Given the description of an element on the screen output the (x, y) to click on. 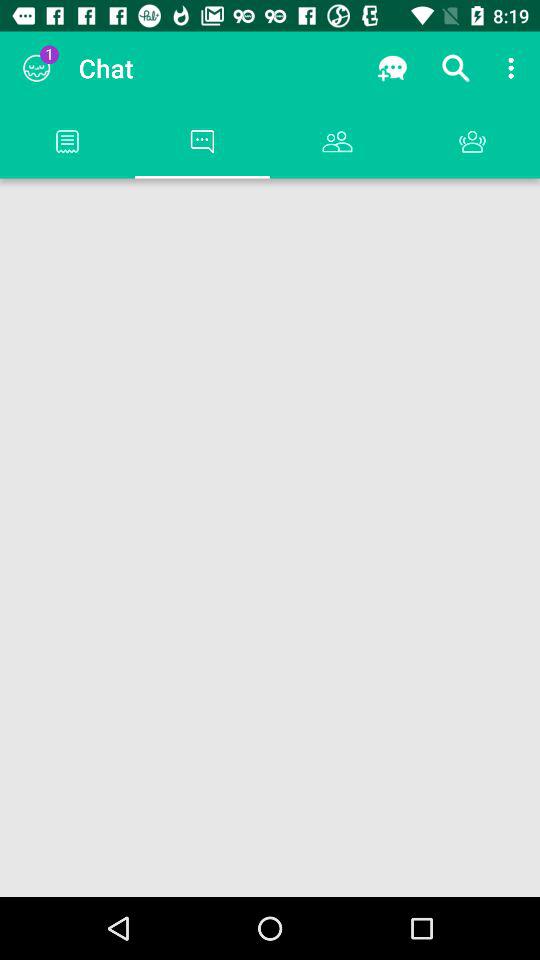
press app to the right of the chat (392, 67)
